Given the description of an element on the screen output the (x, y) to click on. 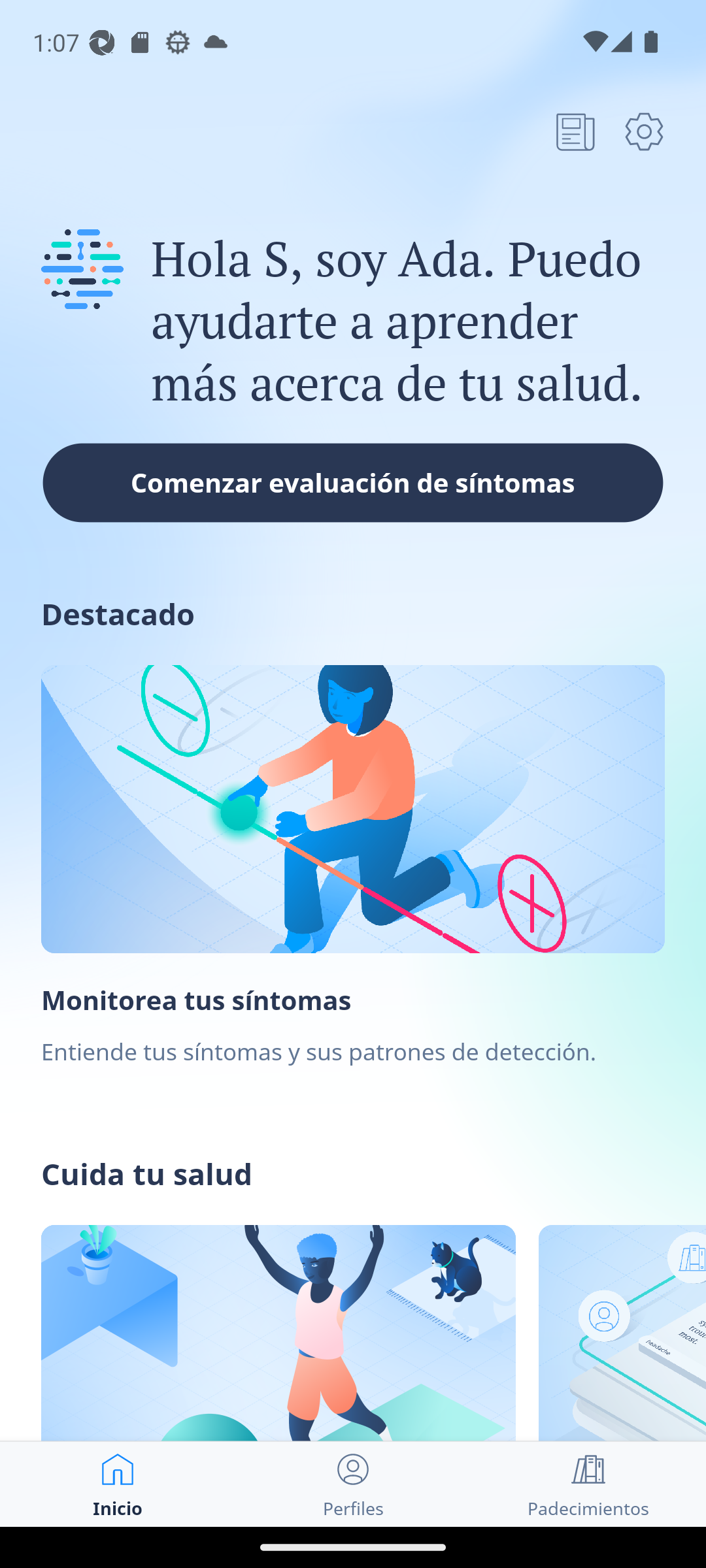
article icon , open articles (574, 131)
settings icon, open settings (644, 131)
Comenzar evaluación de síntomas (352, 482)
Inicio (117, 1484)
Perfiles (352, 1484)
Padecimientos (588, 1484)
